Given the description of an element on the screen output the (x, y) to click on. 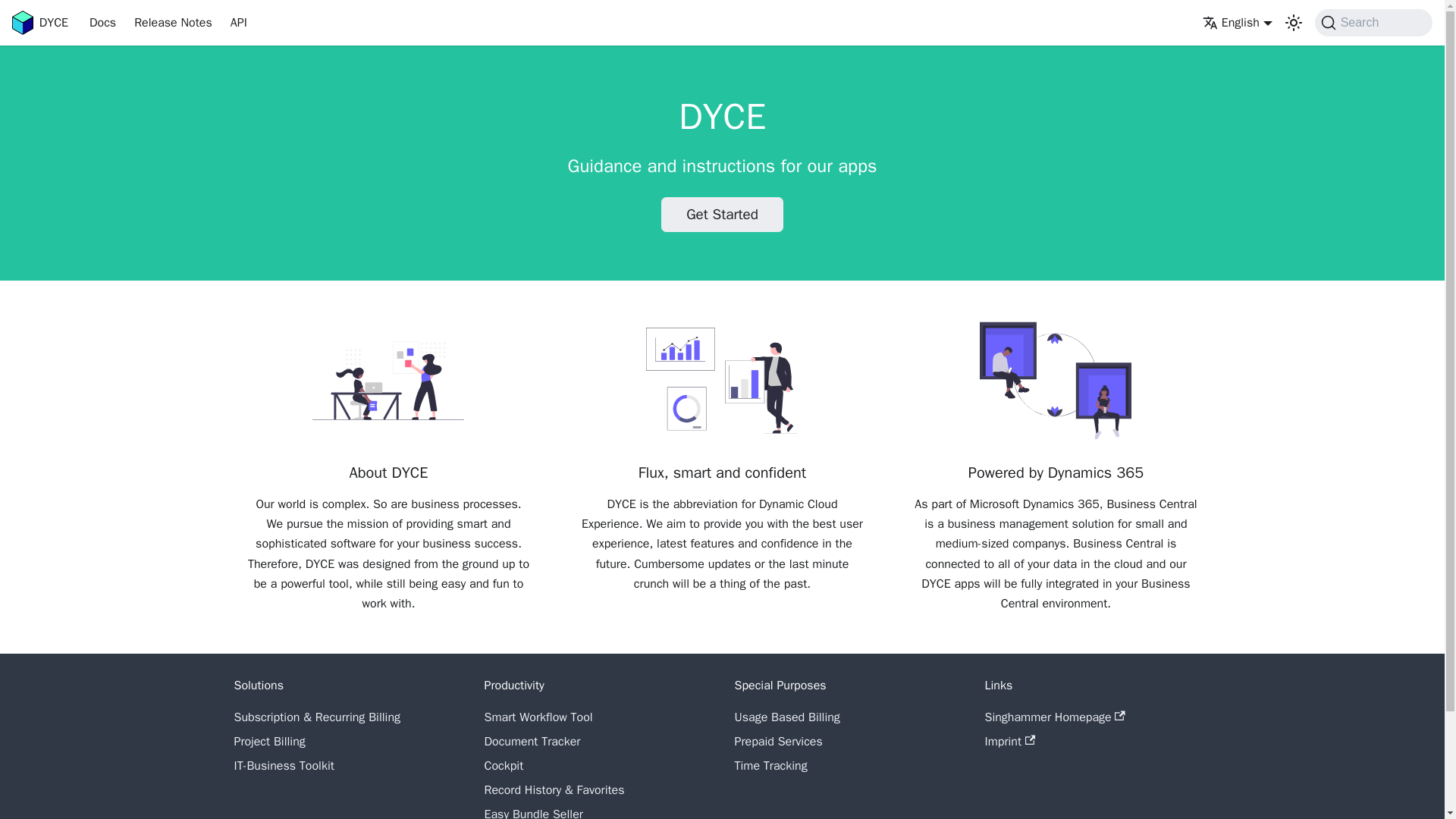
Get Started (722, 214)
Easy Bundle Seller (532, 812)
Search (1373, 22)
Usage Based Billing (786, 717)
Cockpit (502, 765)
IT-Business Toolkit (282, 765)
Time Tracking (769, 765)
Release Notes (173, 22)
Document Tracker (531, 741)
English (1237, 22)
